Given the description of an element on the screen output the (x, y) to click on. 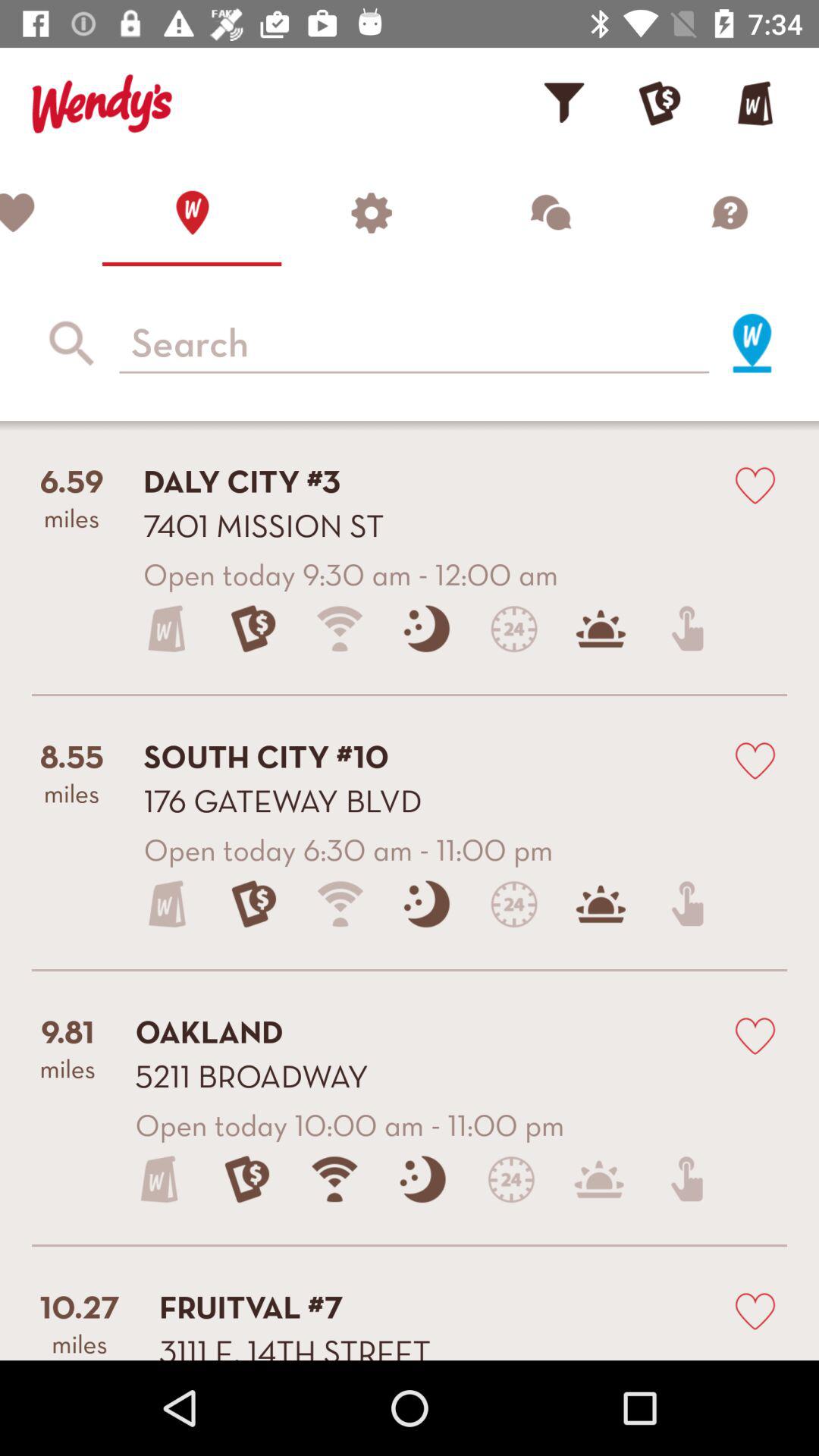
open settings (370, 212)
